Given the description of an element on the screen output the (x, y) to click on. 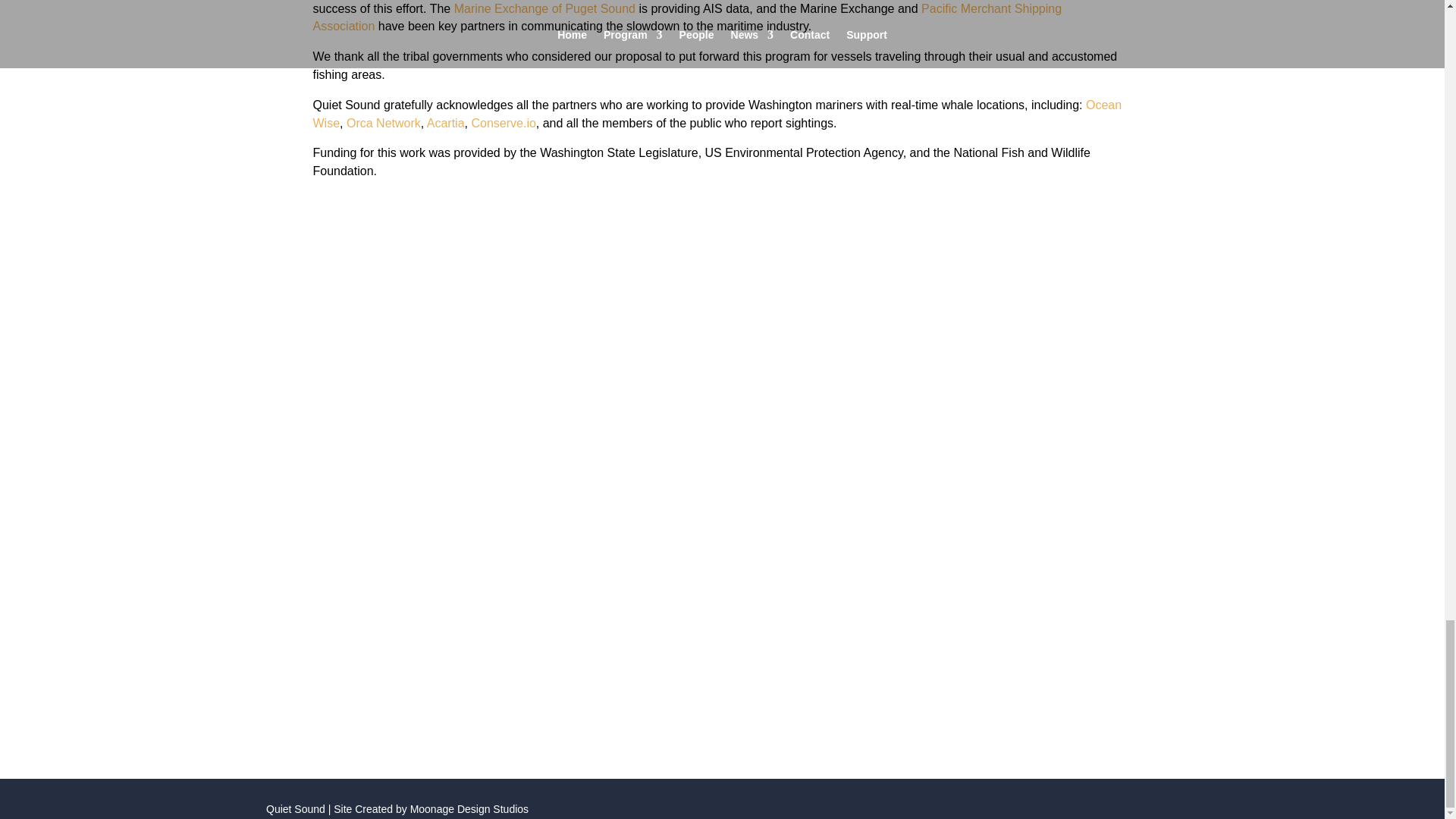
Pacific Merchant Shipping Association (687, 17)
Acartia (445, 123)
Orca Network (383, 123)
Marine Exchange of Puget Sound (544, 8)
Conserve.io (502, 123)
Ocean Wise (717, 113)
